Given the description of an element on the screen output the (x, y) to click on. 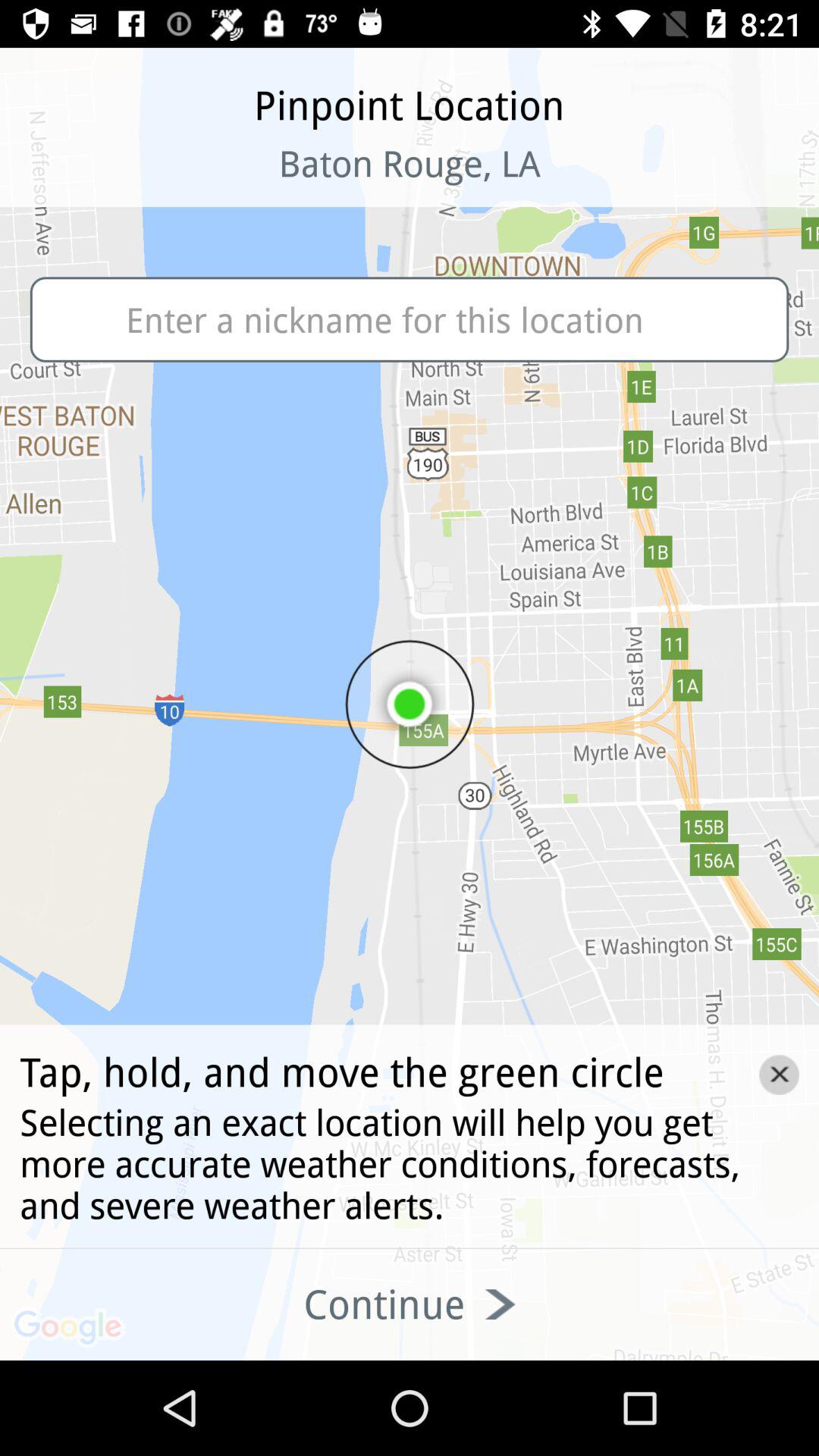
select the cross button in the down (779, 1074)
